Given the description of an element on the screen output the (x, y) to click on. 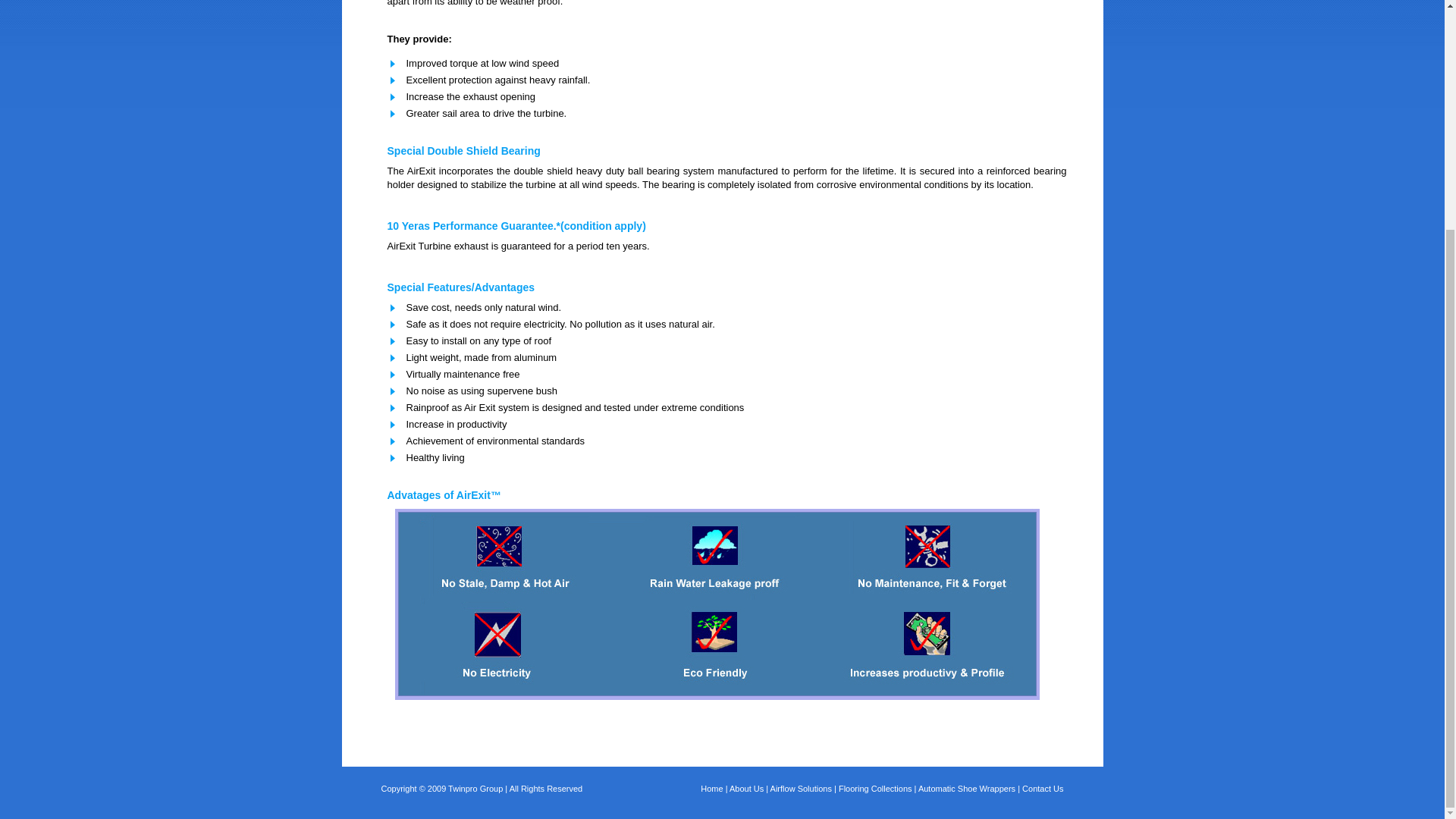
Airflow Solutions (800, 788)
Home (711, 788)
About Us (745, 788)
Flooring Collections (875, 788)
Contact Us (1042, 788)
Automatic Shoe Wrappers (966, 788)
